Given the description of an element on the screen output the (x, y) to click on. 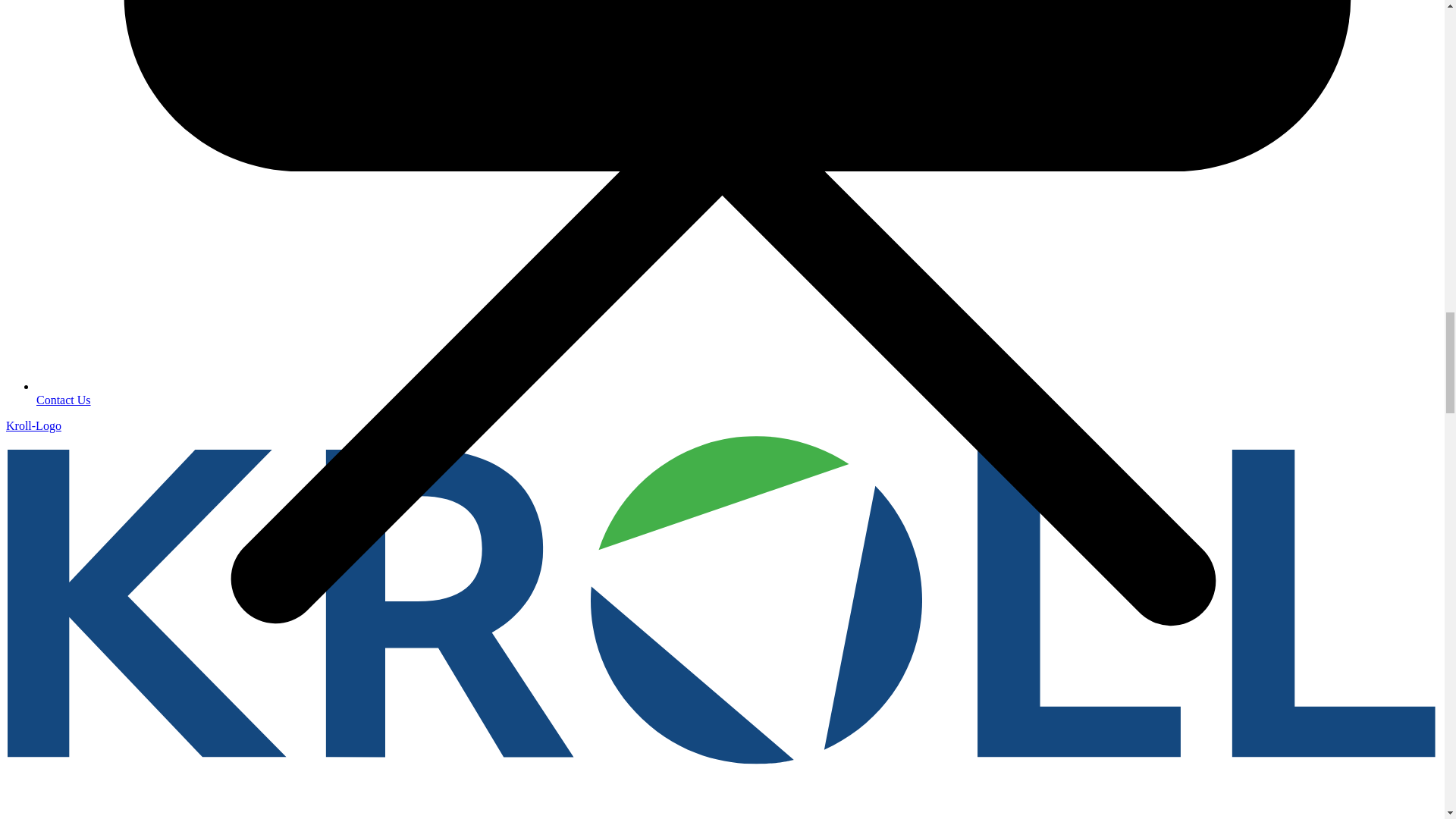
Send Message (63, 399)
Contact Us (63, 399)
